Given the description of an element on the screen output the (x, y) to click on. 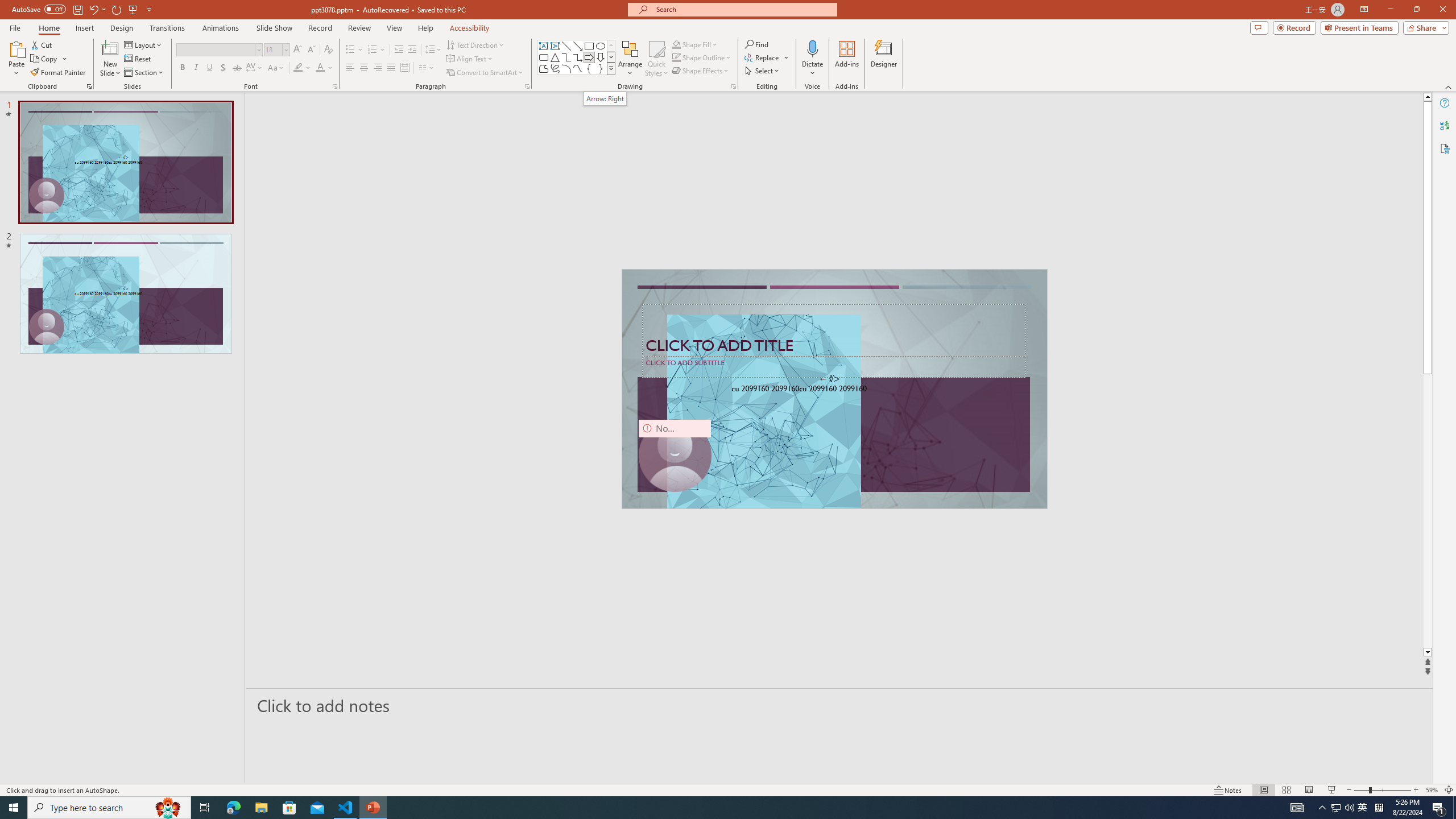
Arrow: Down (600, 57)
Arc (566, 68)
Connector: Elbow Arrow (577, 57)
Curve (577, 68)
Distributed (404, 67)
Change Case (276, 67)
Shape Fill Dark Green, Accent 2 (675, 44)
Line Arrow (577, 45)
Decrease Indent (398, 49)
